Given the description of an element on the screen output the (x, y) to click on. 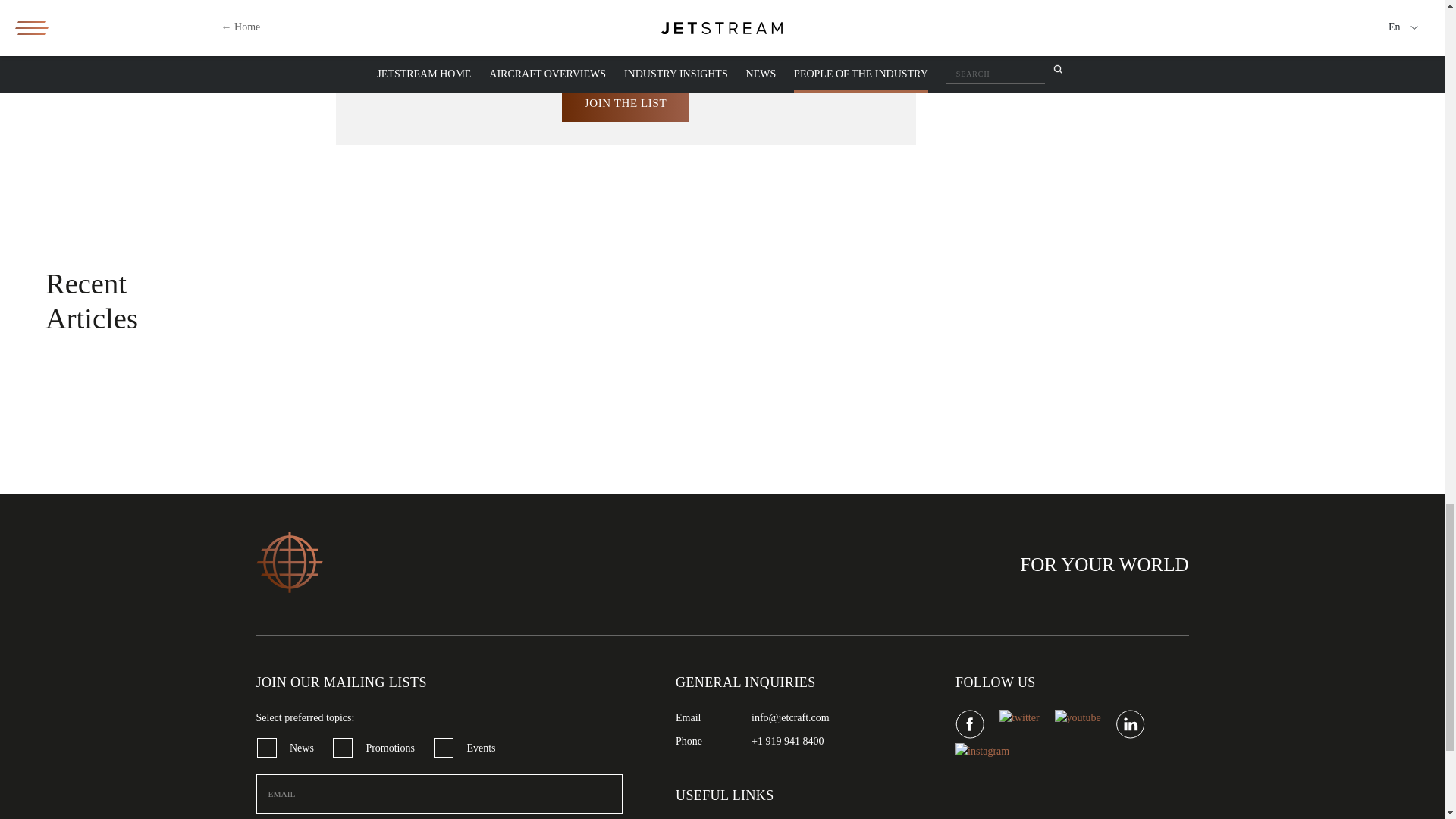
Subscribed (342, 747)
JOIN THE LIST (625, 103)
Subscribed (442, 747)
Subscribed (266, 747)
